Given the description of an element on the screen output the (x, y) to click on. 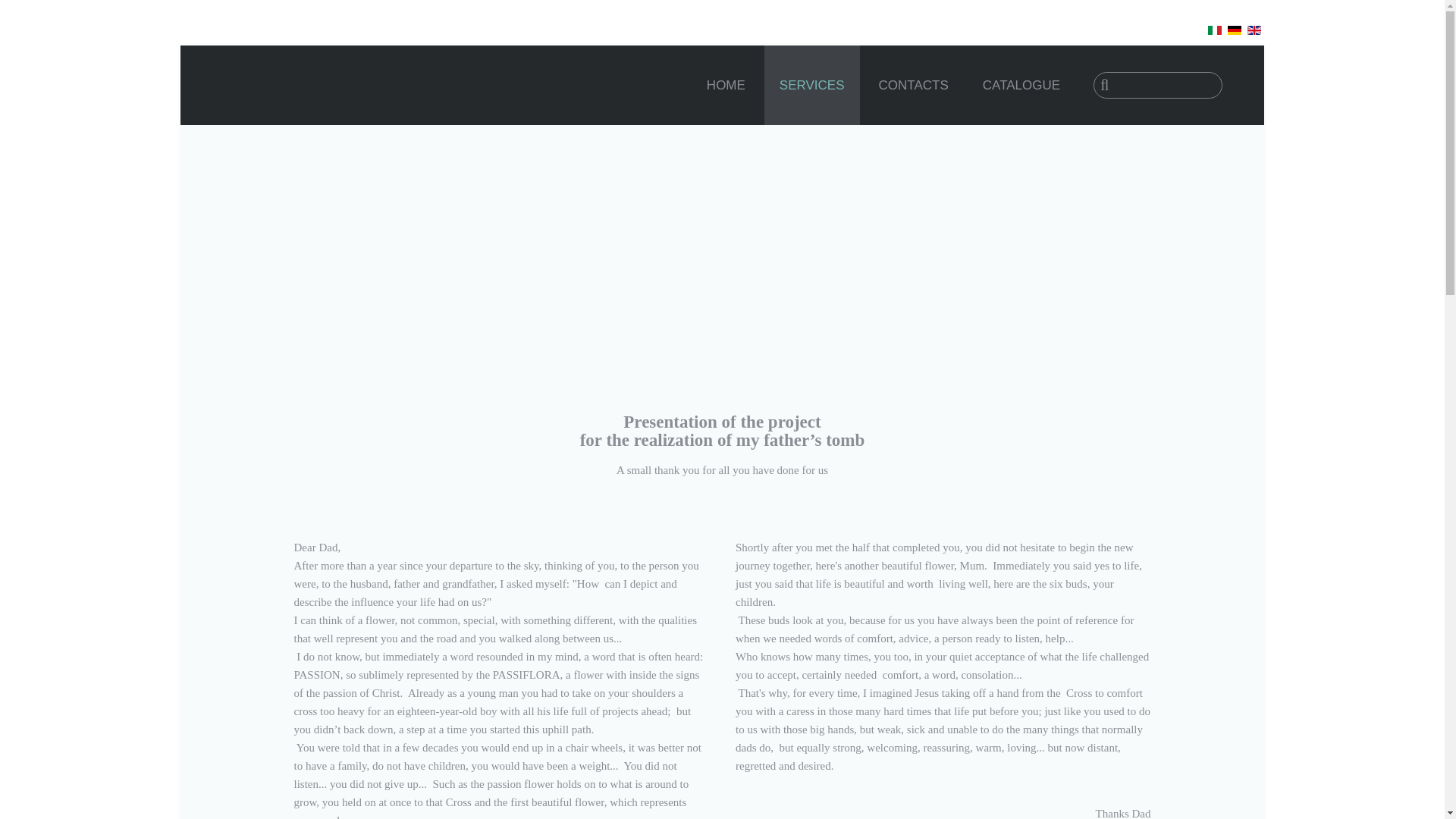
CONTACTS (913, 85)
CATALOGUE (1021, 85)
SERVICES (812, 85)
